Given the description of an element on the screen output the (x, y) to click on. 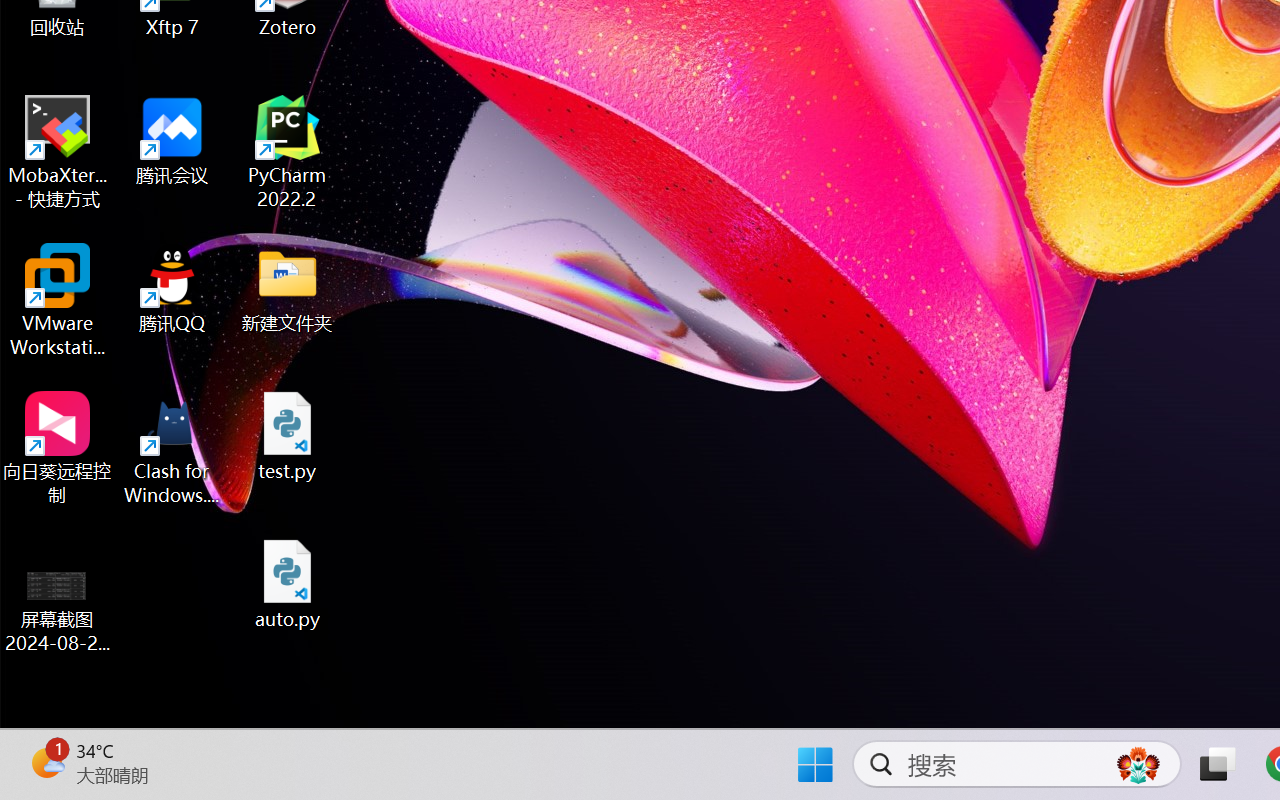
PyCharm 2022.2 (287, 152)
auto.py (287, 584)
VMware Workstation Pro (57, 300)
test.py (287, 436)
